Given the description of an element on the screen output the (x, y) to click on. 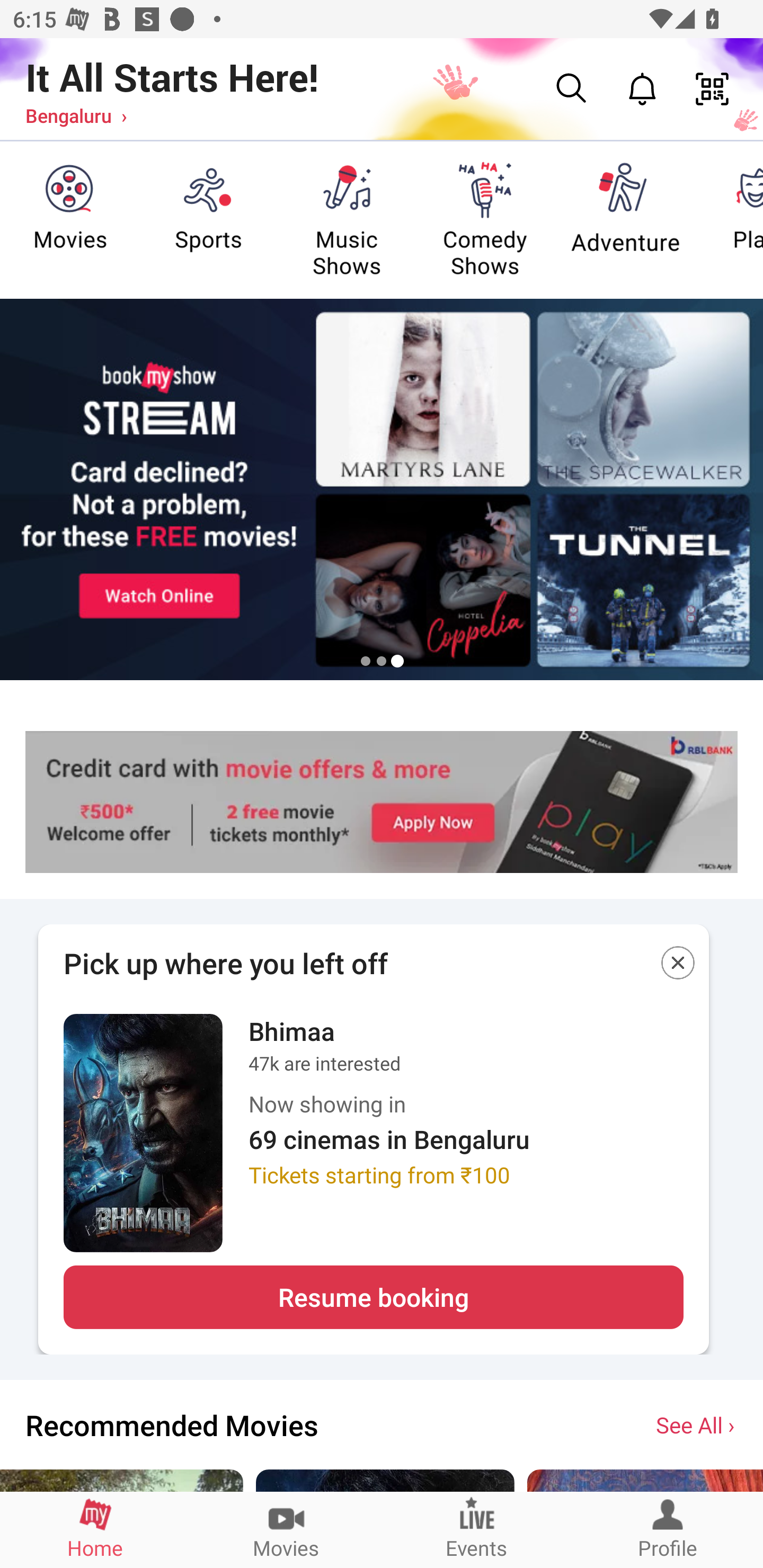
Bengaluru  › (76, 114)
  (678, 966)
Resume booking (373, 1297)
See All › (696, 1424)
Home (95, 1529)
Movies (285, 1529)
Events (476, 1529)
Profile (667, 1529)
